Given the description of an element on the screen output the (x, y) to click on. 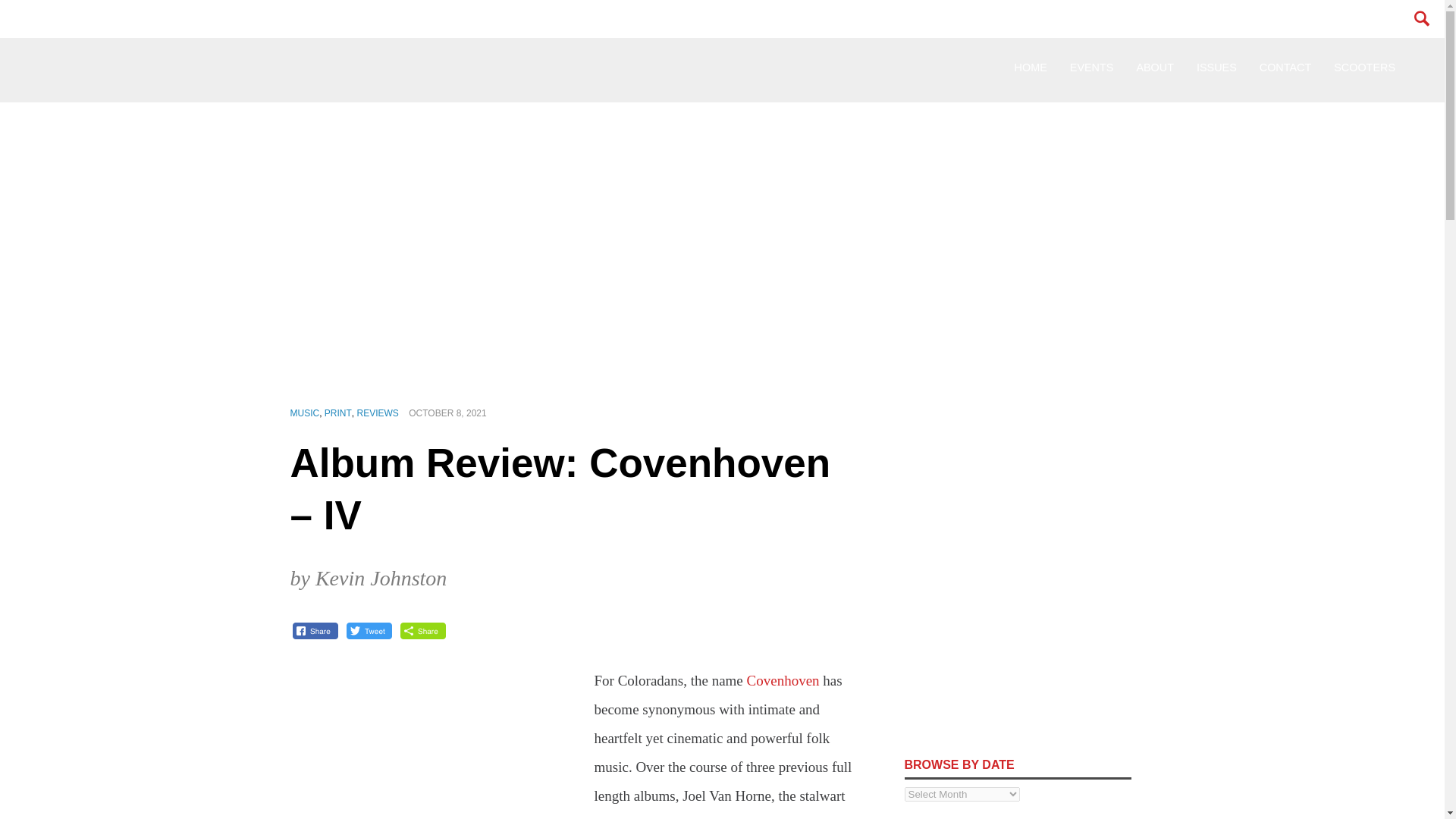
EVENTS (1091, 67)
SCOOTERS (1364, 67)
HOME (1030, 67)
CONTACT (1284, 67)
ISSUES (1216, 67)
ABOUT (1154, 67)
MUSIC (303, 412)
Covenhoven (782, 680)
REVIEWS (377, 412)
PRINT (338, 412)
